Given the description of an element on the screen output the (x, y) to click on. 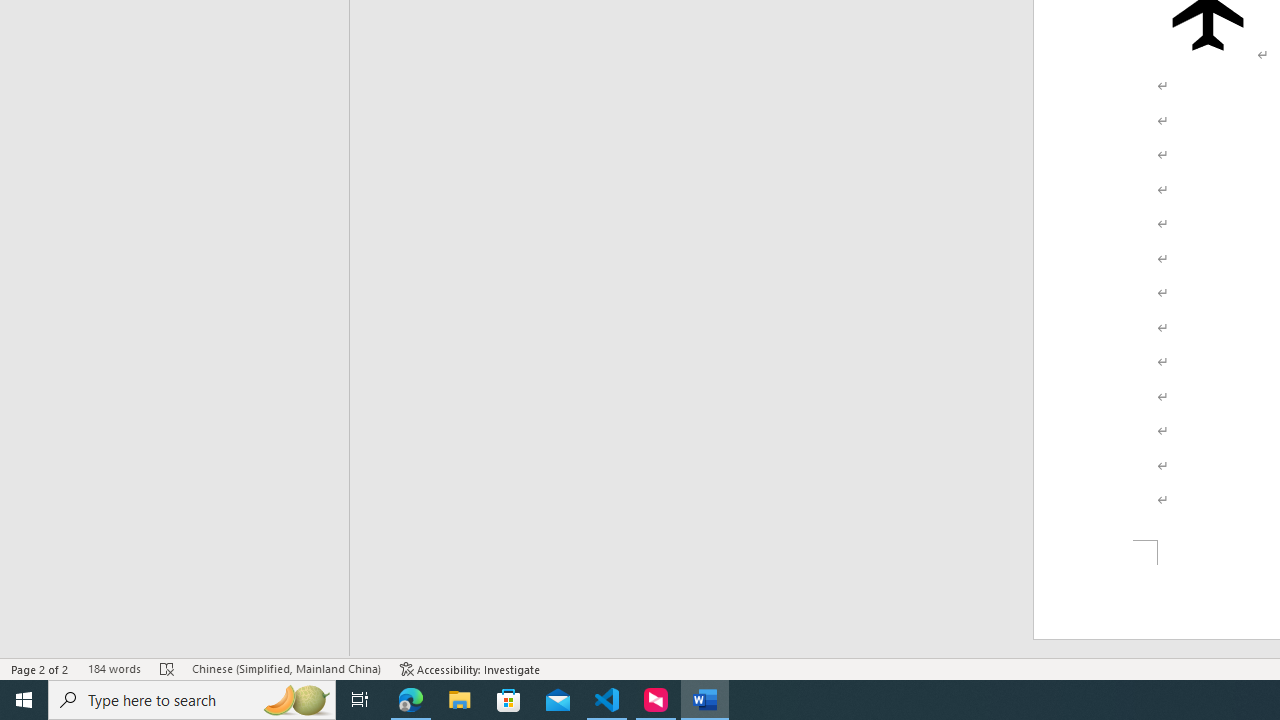
Word Count 184 words (113, 668)
Page Number Page 2 of 2 (39, 668)
